Given the description of an element on the screen output the (x, y) to click on. 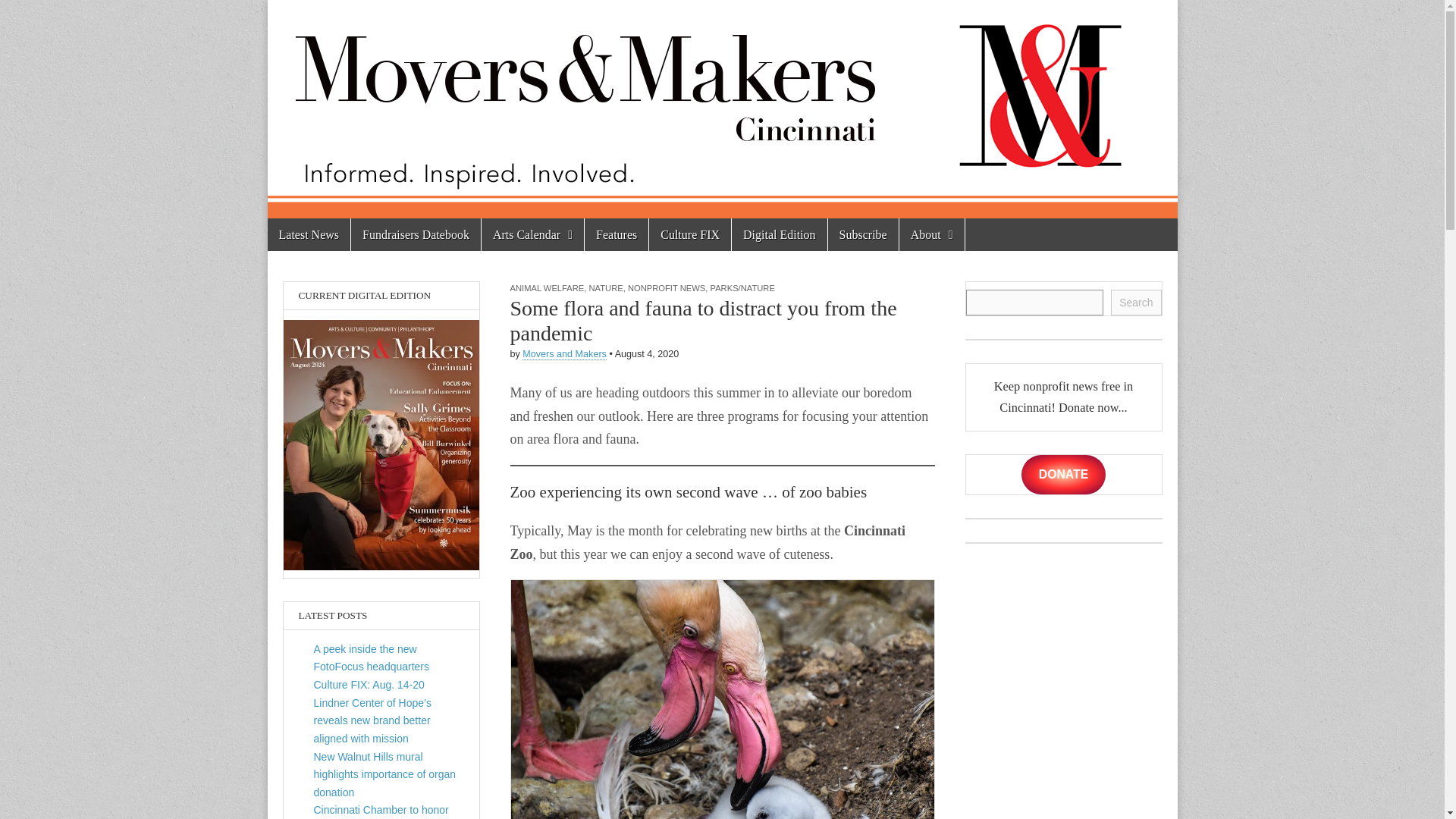
NONPROFIT NEWS (665, 287)
ANIMAL WELFARE (546, 287)
Culture FIX (689, 234)
Arts Calendar (532, 234)
Fundraisers Datebook (415, 234)
Subscribe (863, 234)
About (931, 234)
Features (616, 234)
Latest News (308, 234)
